Given the description of an element on the screen output the (x, y) to click on. 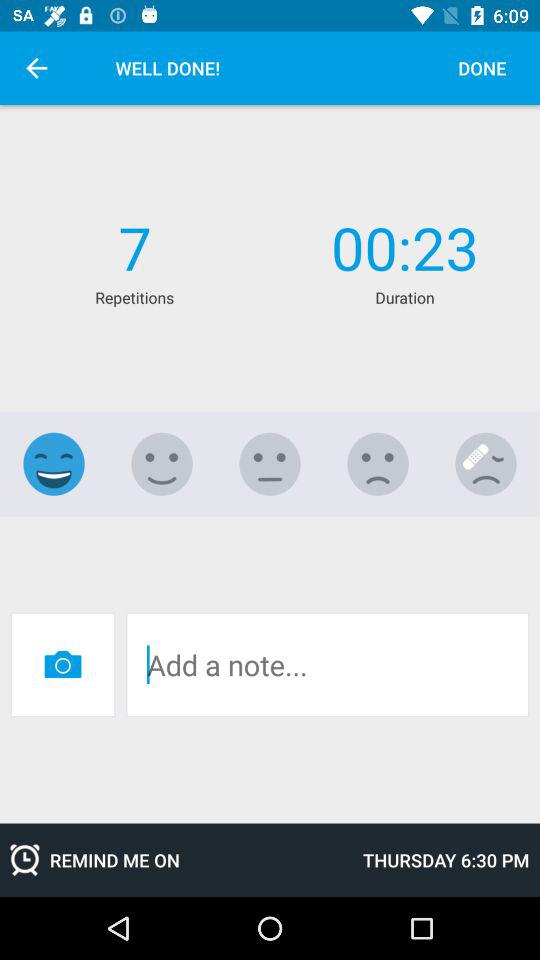
select this rating (162, 463)
